Given the description of an element on the screen output the (x, y) to click on. 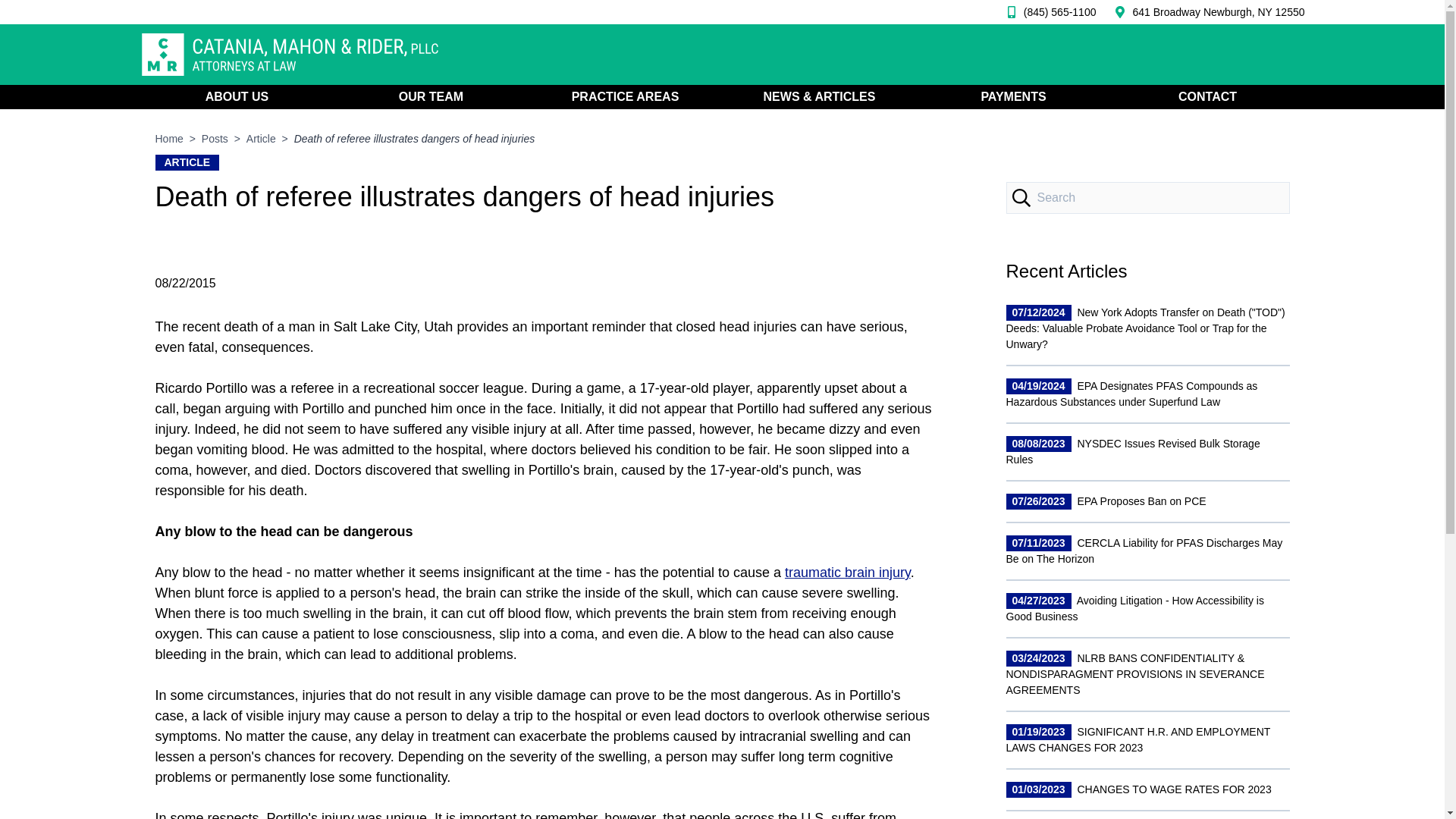
OUR TEAM (430, 96)
PRACTICE AREAS (624, 96)
CMR Phone Number (1047, 12)
641 Broadway Newburgh, NY 12550 (1218, 12)
Posts (215, 138)
Article (261, 138)
PAYMENTS (1012, 96)
ARTICLE (186, 162)
traumatic brain injury (847, 572)
CONTACT (1206, 96)
Home (168, 138)
ABOUT US (236, 96)
CMR Phone Number (1218, 12)
